Given the description of an element on the screen output the (x, y) to click on. 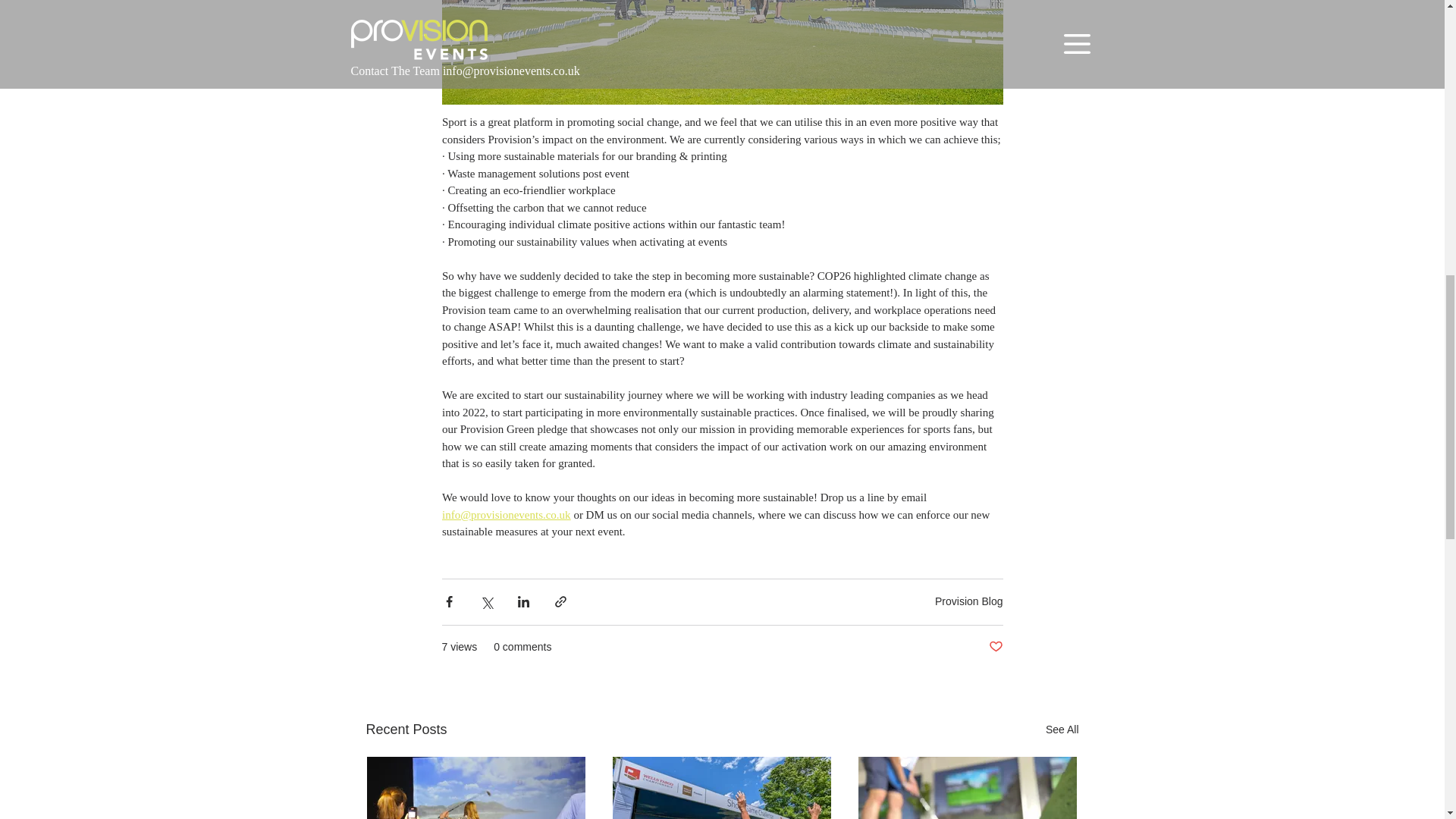
Provision Blog (968, 601)
Post not marked as liked (995, 647)
See All (1061, 730)
